Given the description of an element on the screen output the (x, y) to click on. 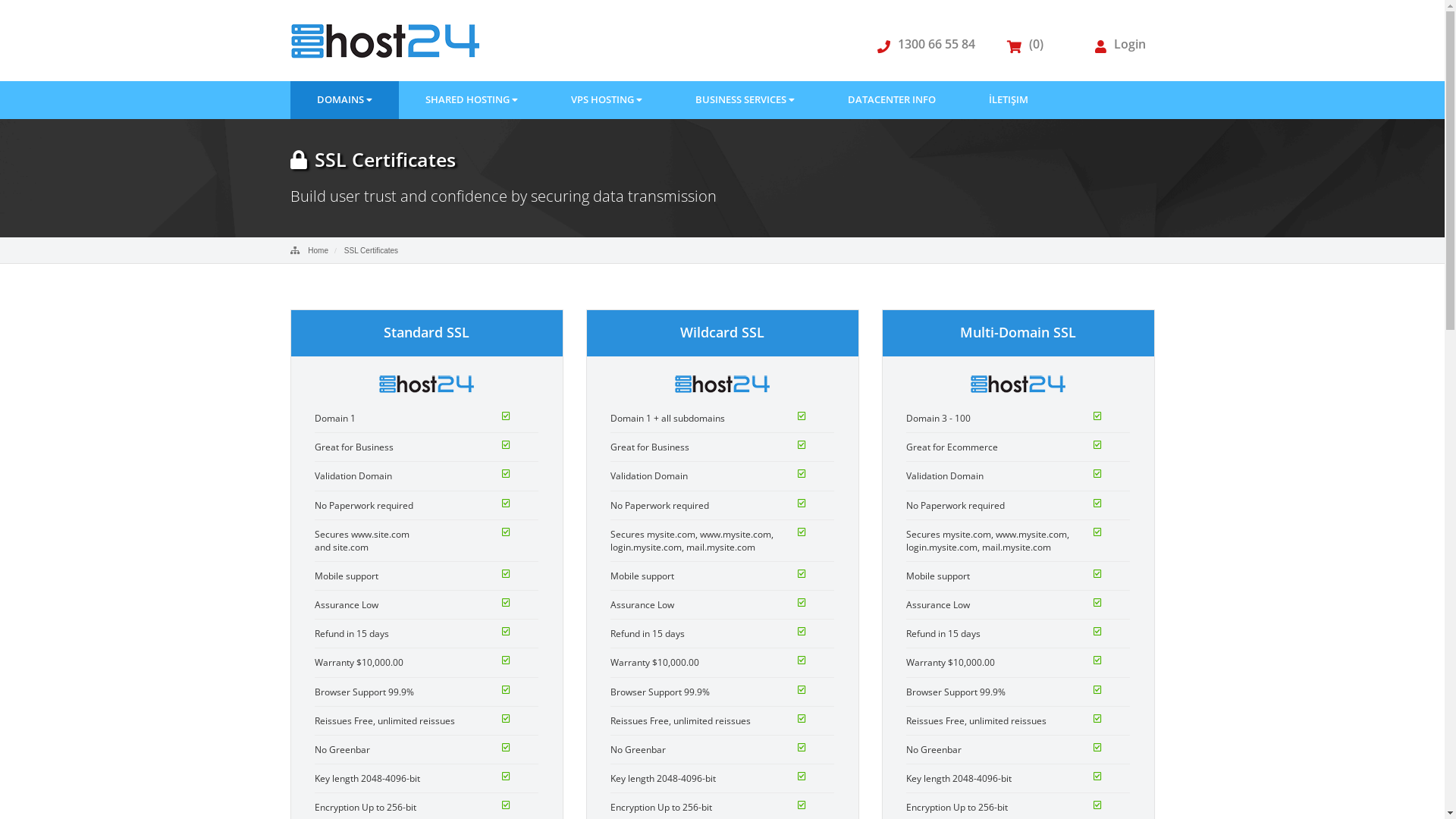
(0) Element type: text (1024, 44)
DOMAINS Element type: text (343, 100)
1300 66 55 84 Element type: text (922, 44)
VPS HOSTING Element type: text (606, 100)
BUSINESS SERVICES Element type: text (744, 100)
Login Element type: text (1116, 44)
   Home Element type: text (314, 250)
SHARED HOSTING Element type: text (471, 100)
DATACENTER INFO Element type: text (890, 100)
SSL Certificates Element type: text (371, 250)
